Given the description of an element on the screen output the (x, y) to click on. 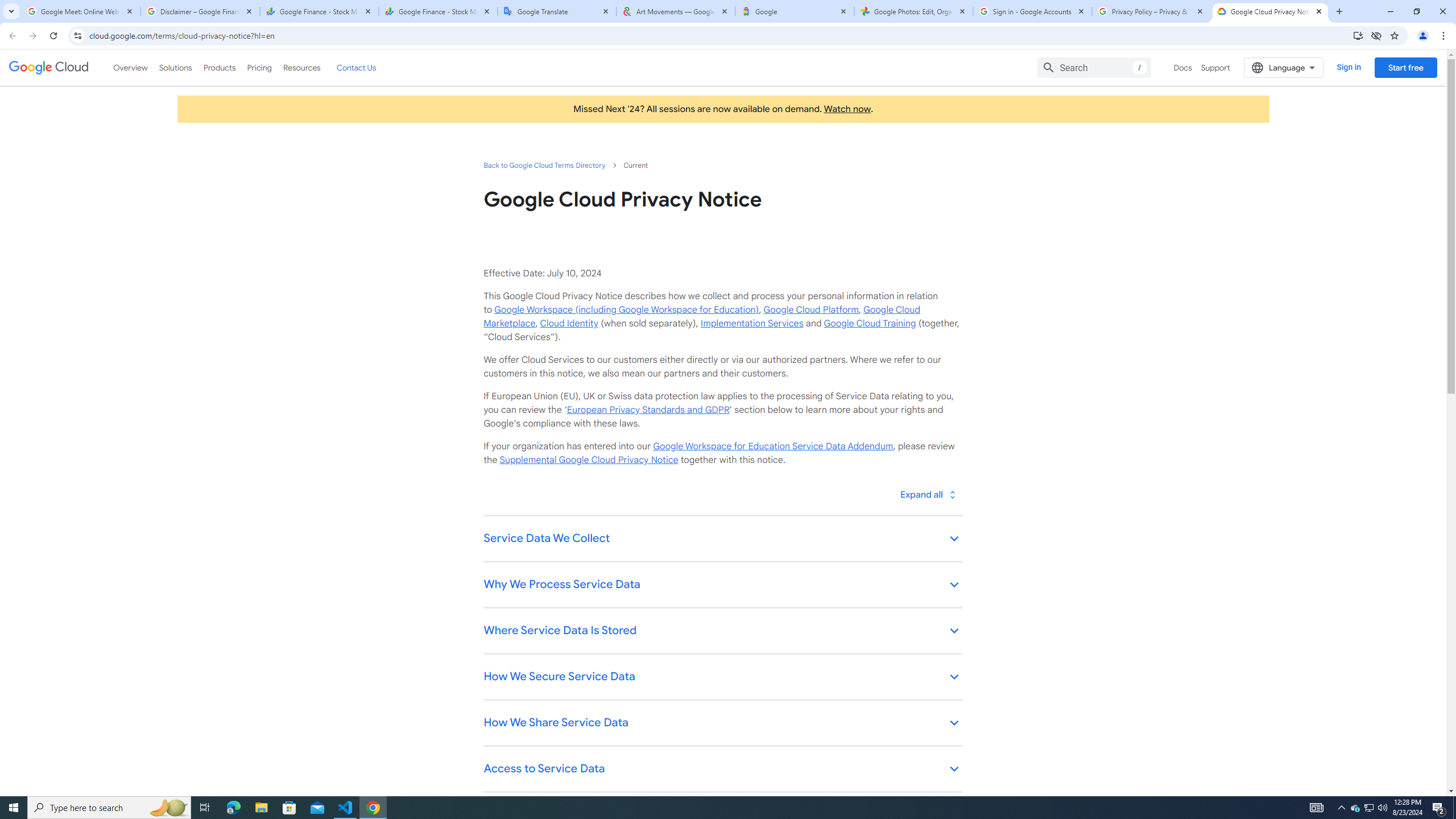
Support (1215, 67)
Cloud Identity (569, 323)
Supplemental Google Cloud Privacy Notice (588, 460)
Google Cloud (48, 67)
Google Cloud Marketplace (701, 316)
